Given the description of an element on the screen output the (x, y) to click on. 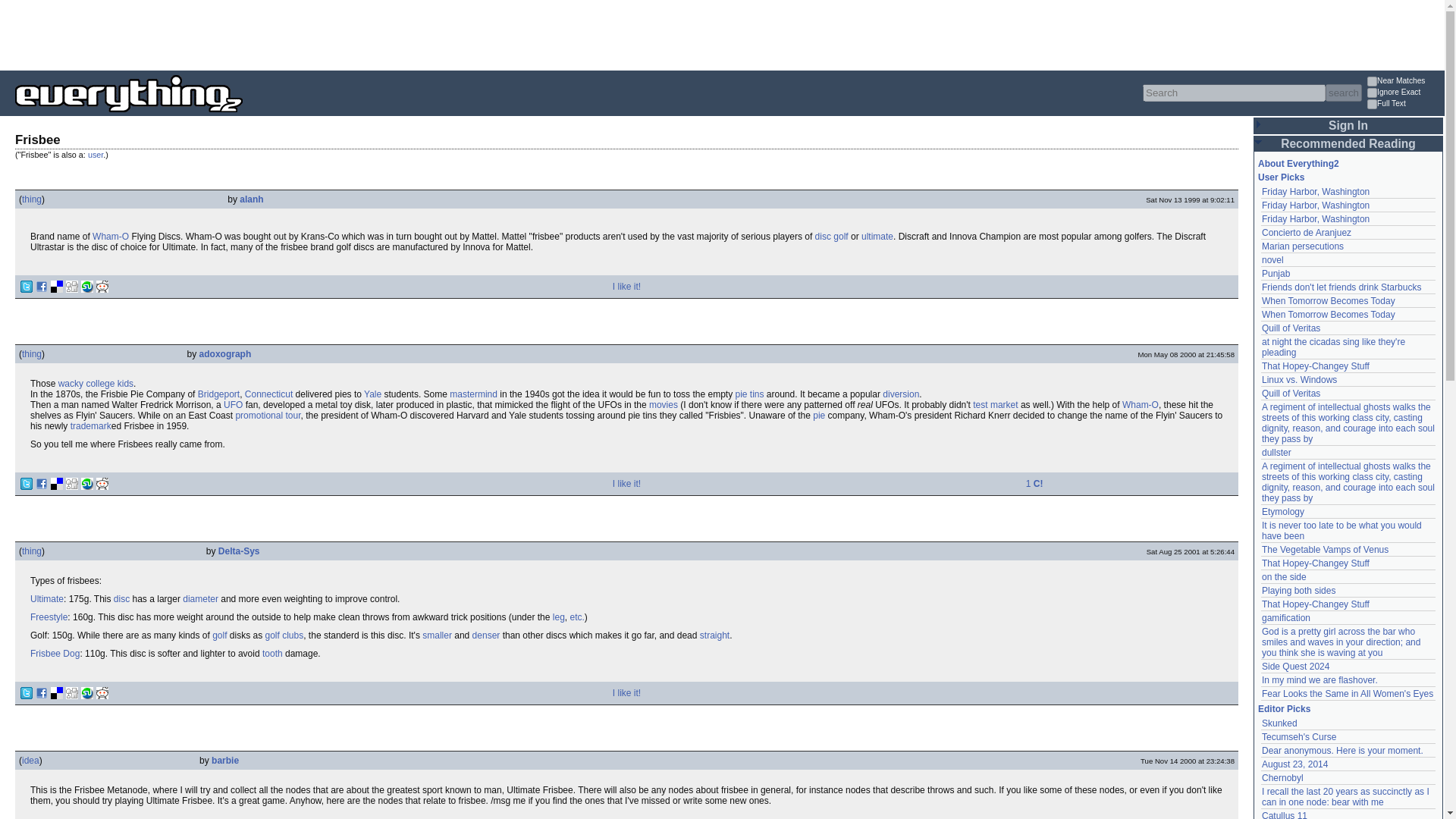
UFO (233, 404)
Wham-O (1140, 404)
Facebook (41, 286)
Advertisement (275, 33)
Bridgeport (219, 394)
Digg (71, 286)
Wham-O (111, 235)
promotional tour (266, 415)
ultimate (877, 235)
May 08 2000 at 21:45:58 (1186, 354)
wacky (70, 383)
pie tins (748, 394)
disc golf (831, 235)
StumbleUpon (87, 286)
user (95, 153)
